Given the description of an element on the screen output the (x, y) to click on. 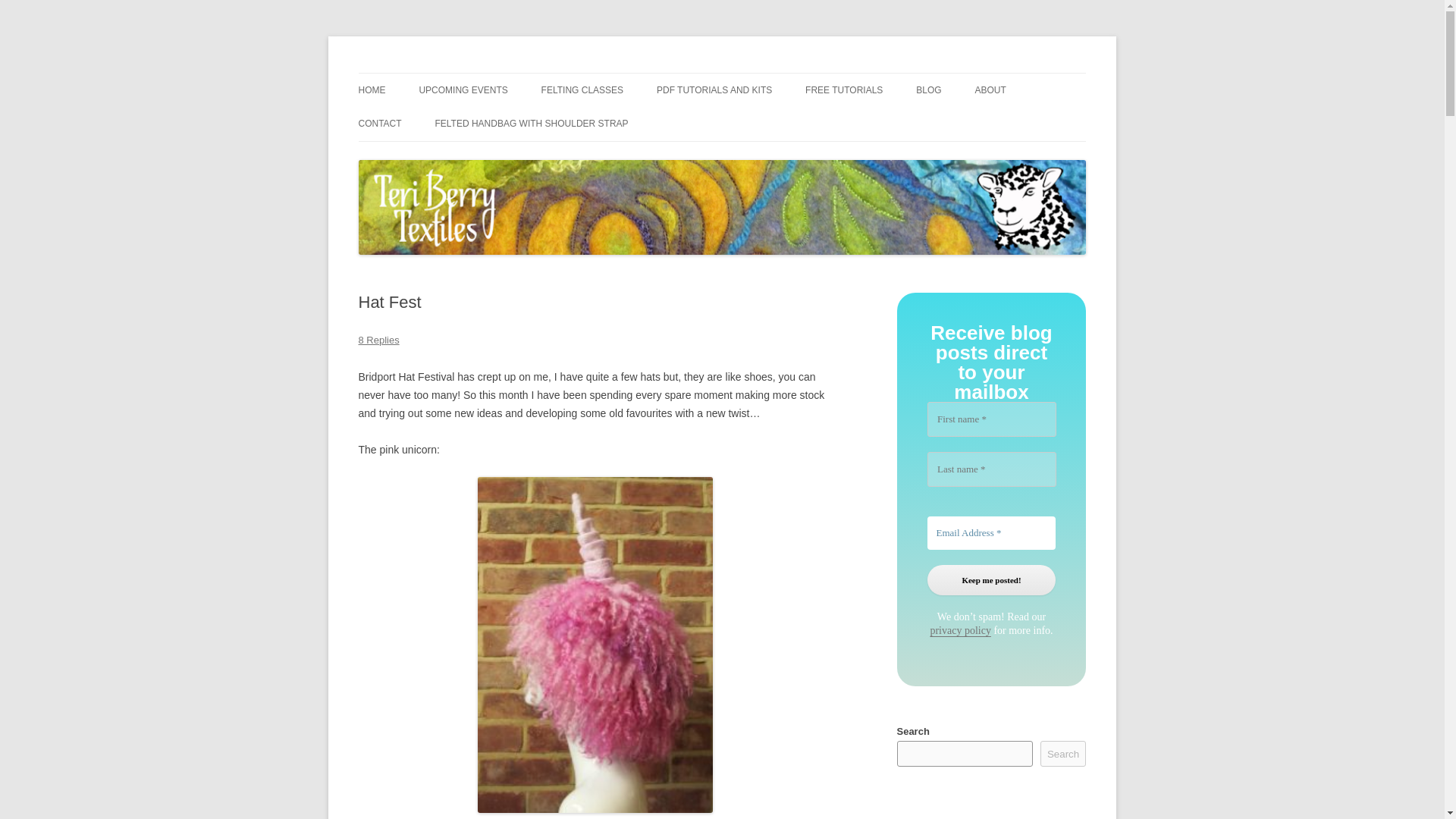
Teri Berry Textiles (442, 72)
FELTED HANDBAG WITH SHOULDER STRAP (530, 123)
Email Address (990, 532)
Keep me posted! (990, 580)
CONTACT (379, 123)
FELTING CLASSES (582, 90)
ABOUT (990, 90)
PDF TUTORIALS AND KITS (713, 90)
CLASSES BY LOCATION (617, 122)
